Given the description of an element on the screen output the (x, y) to click on. 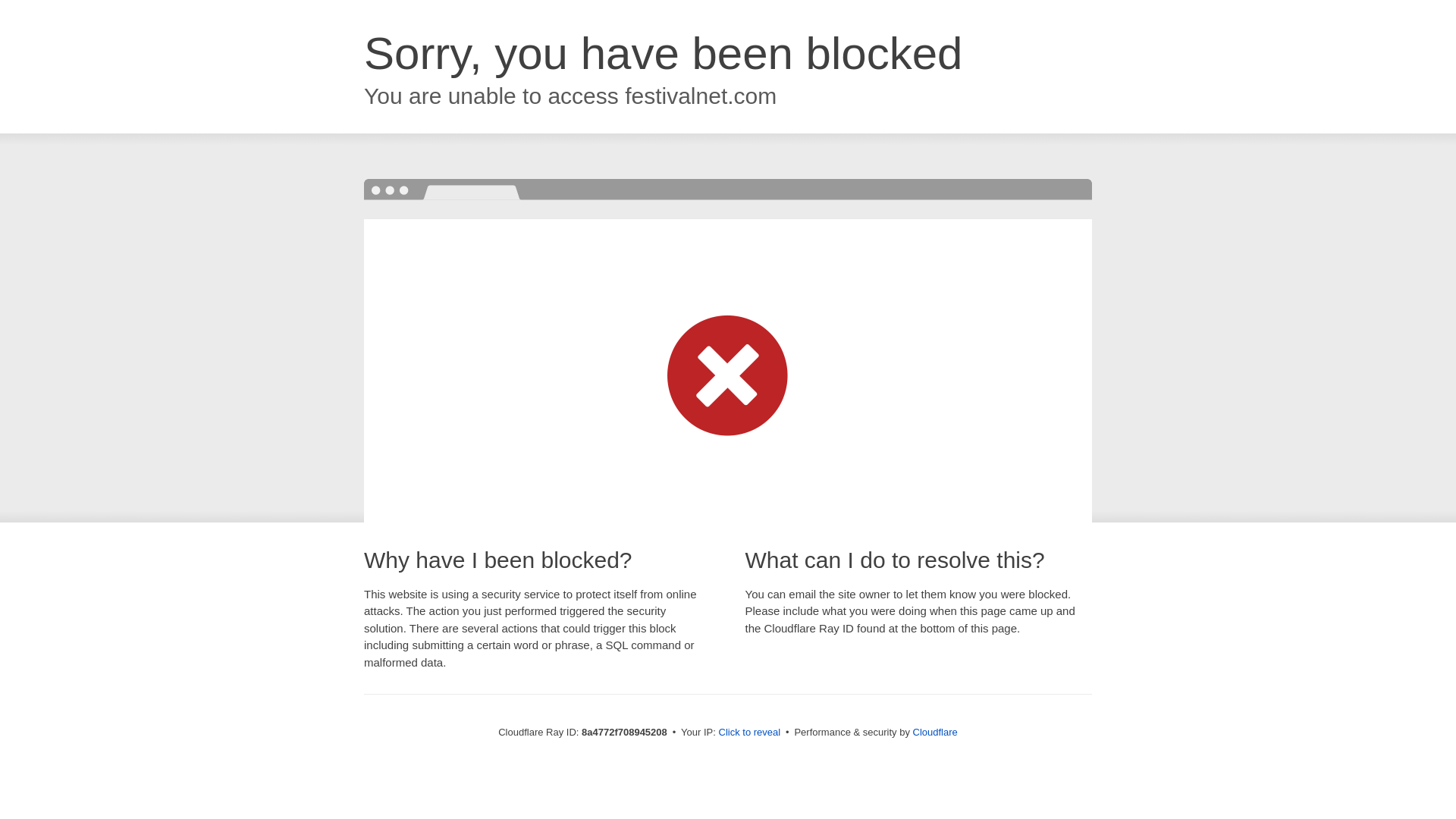
Cloudflare (935, 731)
Click to reveal (749, 732)
